Given the description of an element on the screen output the (x, y) to click on. 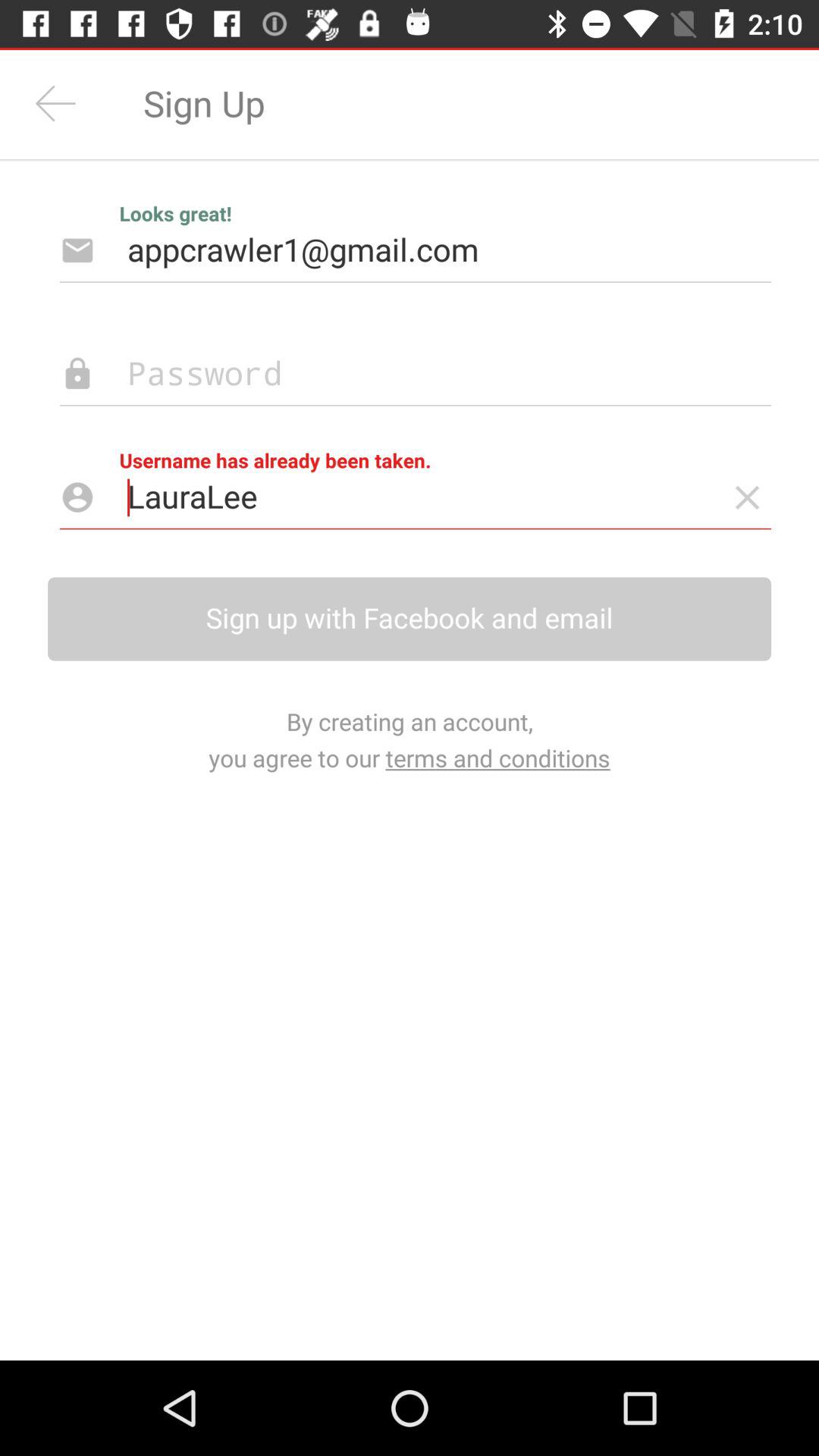
go to previous (55, 103)
